Given the description of an element on the screen output the (x, y) to click on. 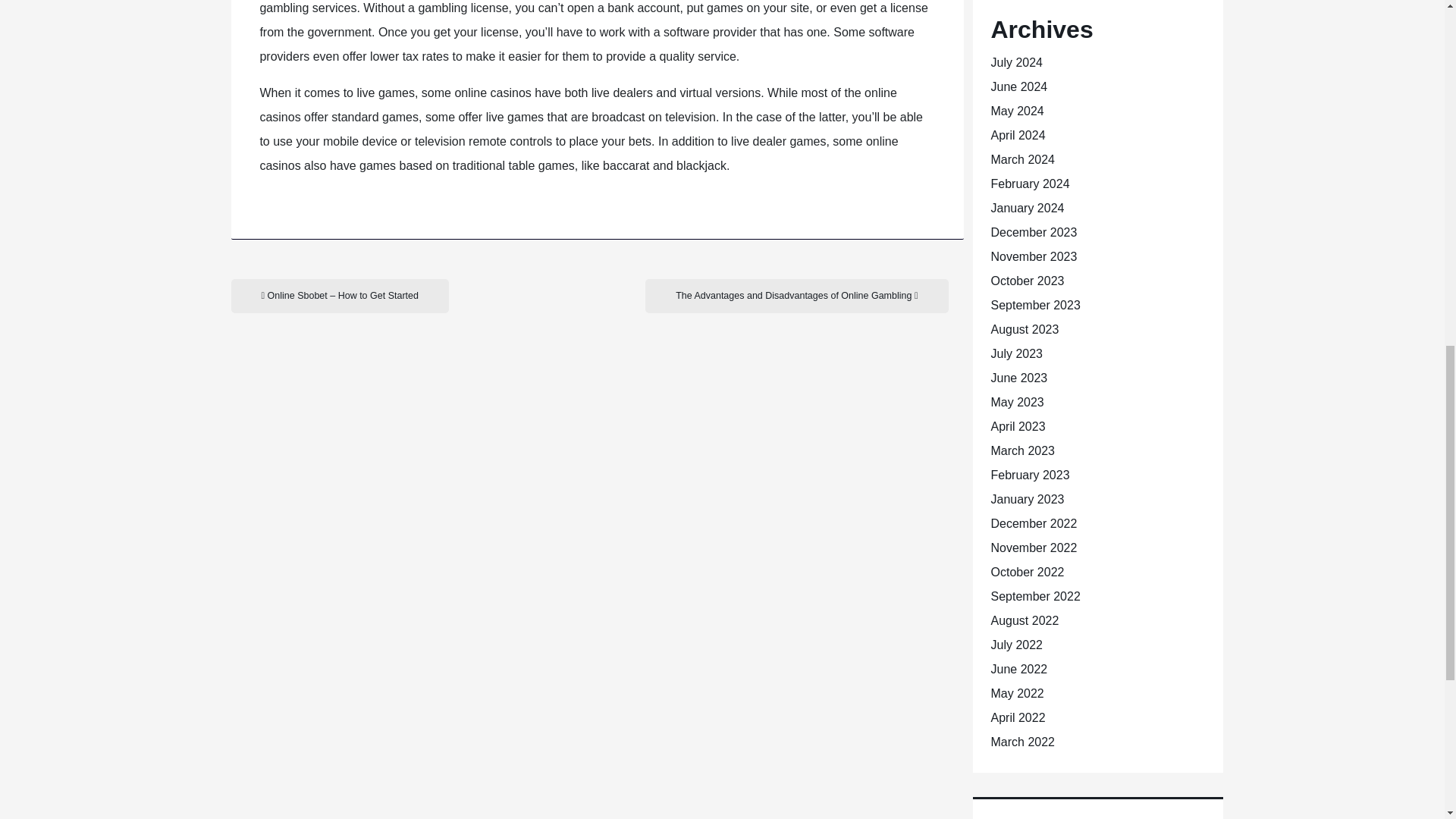
December 2023 (1033, 232)
February 2023 (1029, 474)
October 2022 (1027, 571)
May 2023 (1016, 401)
November 2022 (1033, 547)
August 2022 (1024, 620)
March 2023 (1022, 450)
June 2023 (1018, 377)
October 2023 (1027, 280)
July 2023 (1016, 353)
July 2024 (1016, 62)
April 2024 (1017, 134)
August 2023 (1024, 328)
June 2024 (1018, 86)
January 2023 (1027, 499)
